Given the description of an element on the screen output the (x, y) to click on. 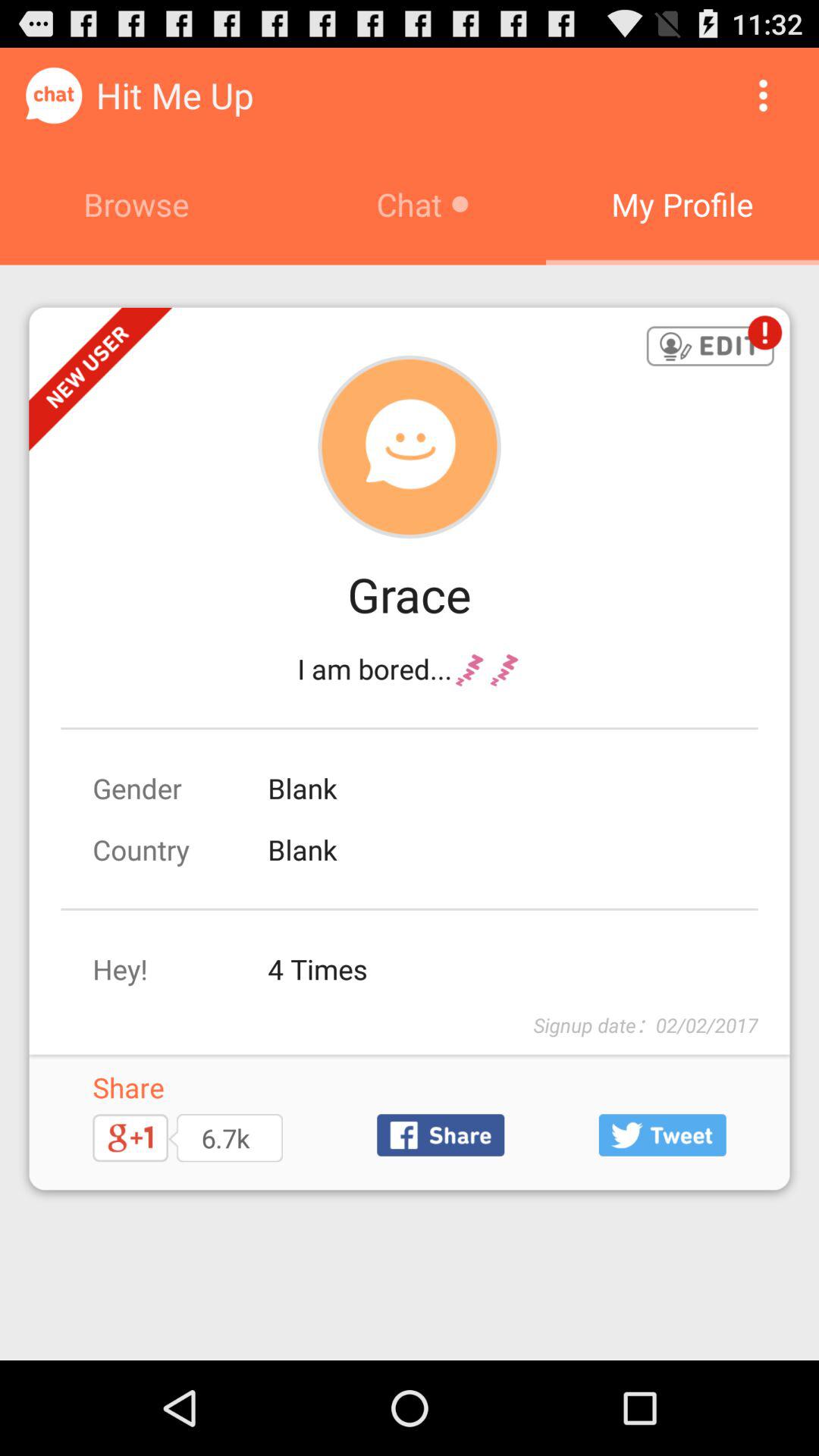
flip to browse (136, 204)
